Given the description of an element on the screen output the (x, y) to click on. 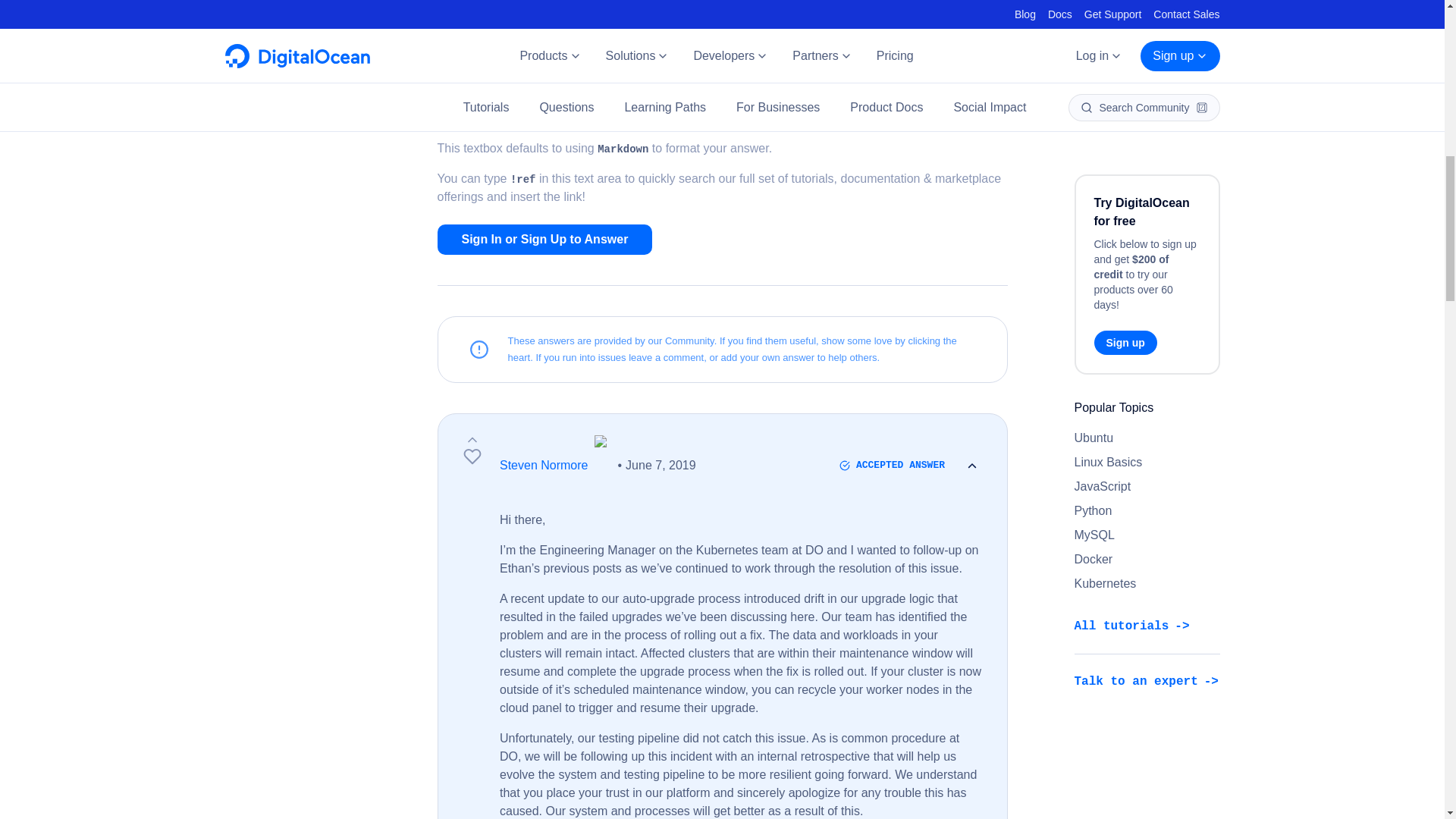
Unordered list (678, 58)
Highlight (590, 58)
Strikethrough (524, 58)
Heading 1 (612, 58)
Bold (458, 58)
Underline (503, 58)
Italic (480, 58)
Image (568, 58)
Heading 3 (656, 58)
Table (767, 58)
